Given the description of an element on the screen output the (x, y) to click on. 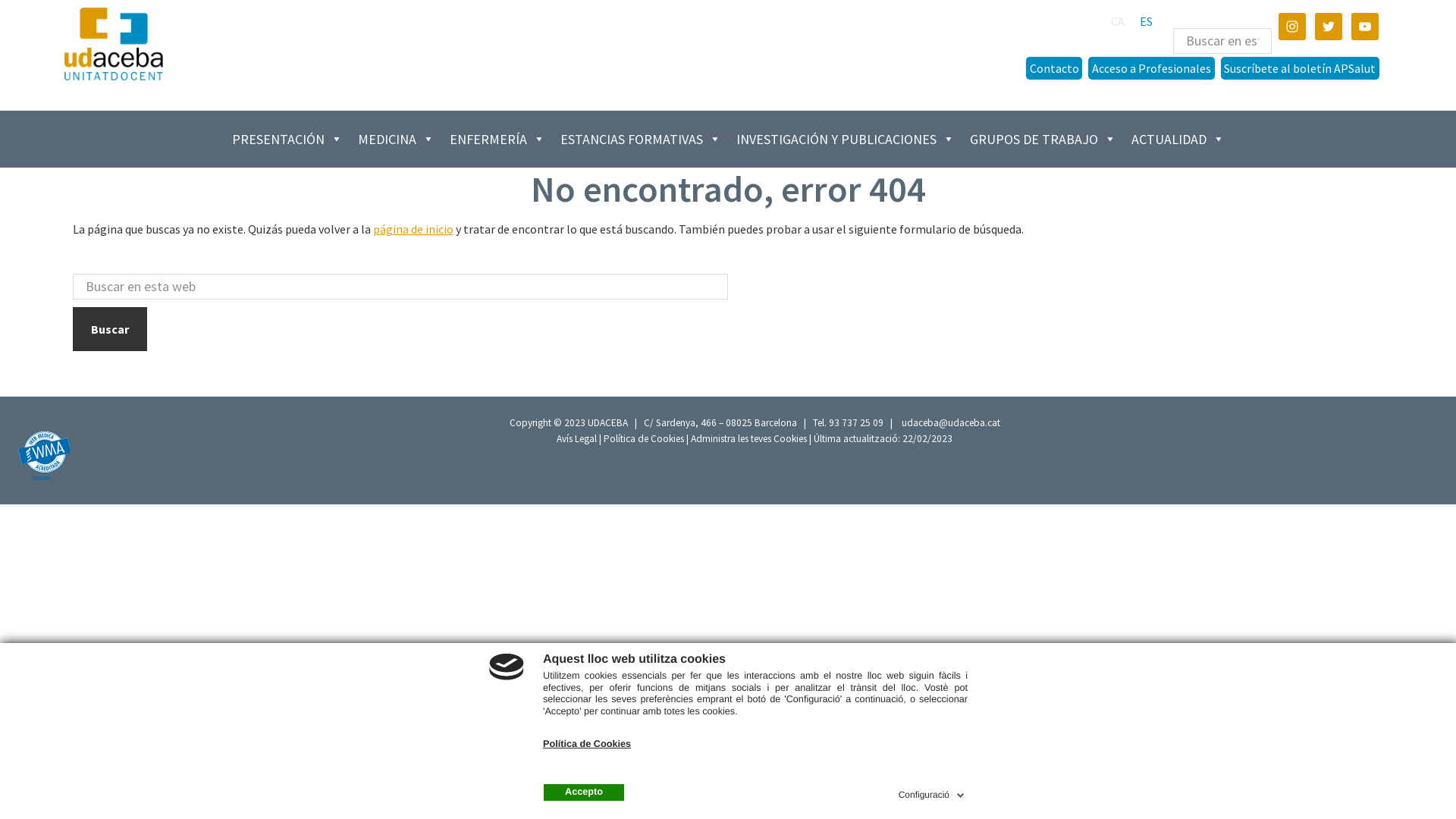
ESTANCIAS FORMATIVAS Element type: text (640, 138)
Buscar Element type: text (109, 328)
ES Element type: text (1146, 20)
Accepto Element type: text (583, 792)
Acceso a Profesionales Element type: text (1151, 67)
Buscar Element type: text (1270, 13)
MEDICINA Element type: text (396, 138)
Administra les teves Cookies Element type: text (748, 438)
CA Element type: text (1117, 20)
GRUPOS DE TRABAJO Element type: text (1042, 138)
ACTUALIDAD Element type: text (1177, 138)
Contacto Element type: text (1054, 67)
Udaceba Element type: text (113, 43)
